Given the description of an element on the screen output the (x, y) to click on. 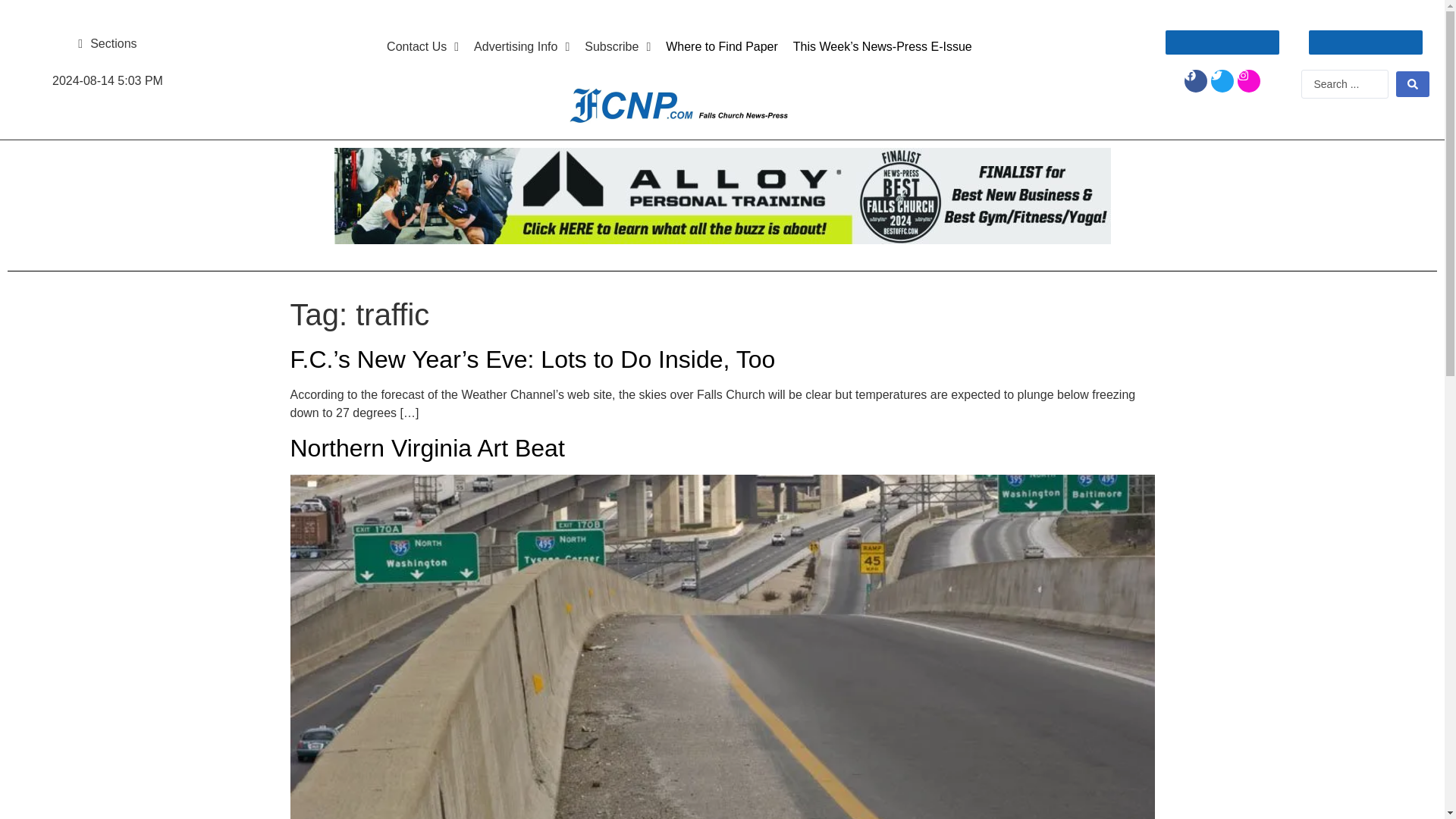
Where to Find Paper (722, 46)
Subscribe (617, 46)
Advertising Info (520, 46)
Contact Us (421, 46)
Northern Virginia Art Beat (426, 447)
